Given the description of an element on the screen output the (x, y) to click on. 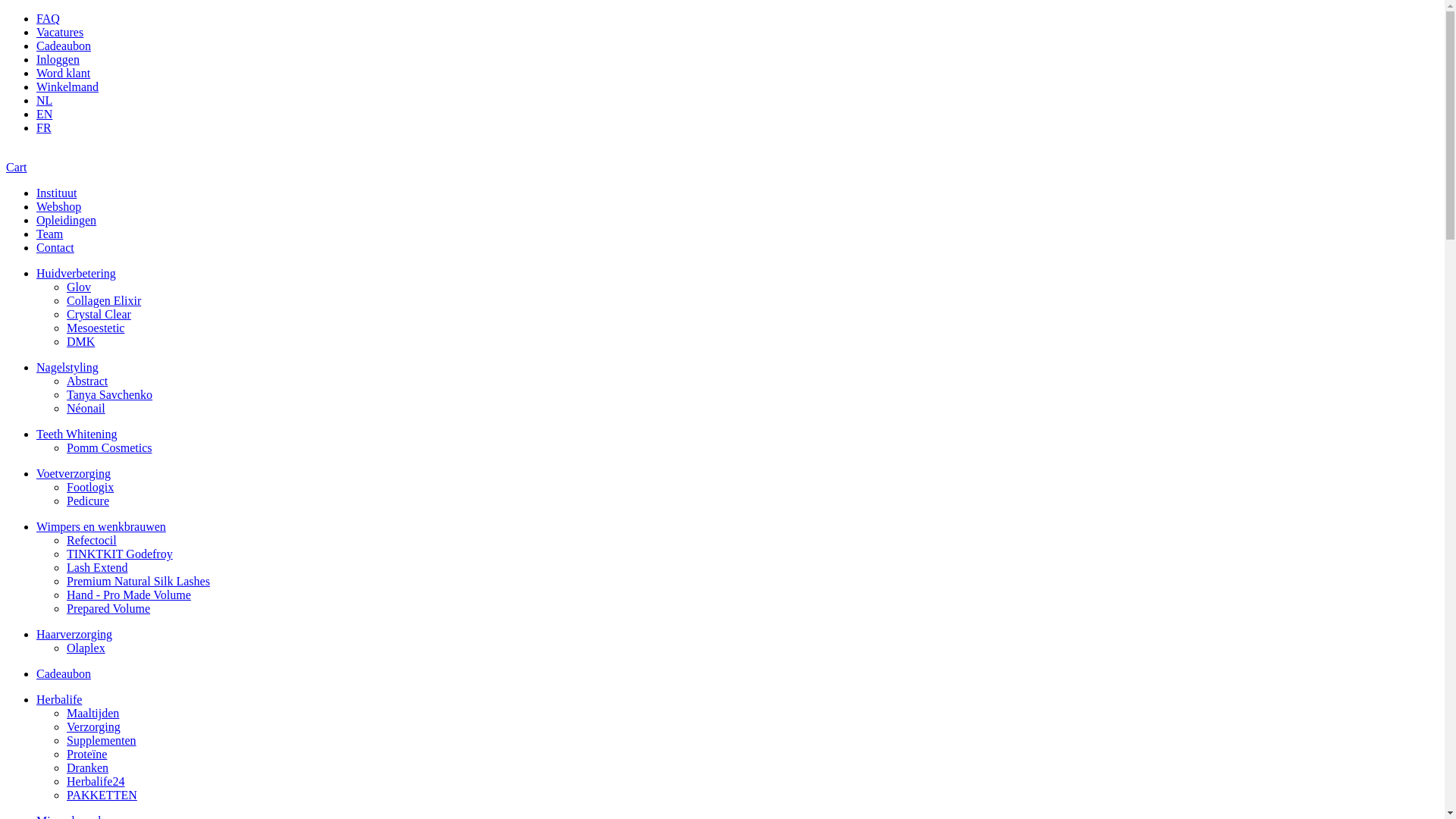
FR Element type: text (43, 127)
Contact Element type: text (55, 247)
Mesoestetic Element type: text (95, 327)
Refectocil Element type: text (91, 539)
Teeth Whitening Element type: text (76, 433)
Footlogix Element type: text (89, 486)
Premium Natural Silk Lashes Element type: text (138, 580)
Maaltijden Element type: text (92, 712)
Huidverbetering Element type: text (76, 272)
Tanya Savchenko Element type: text (109, 394)
Wimpers en wenkbrauwen Element type: text (101, 526)
Webshop Element type: text (58, 206)
Cadeaubon Element type: text (63, 673)
Glov Element type: text (78, 286)
Abstract Element type: text (86, 380)
Herbalife24 Element type: text (95, 781)
Dranken Element type: text (87, 767)
Supplementen Element type: text (101, 740)
Opleidingen Element type: text (66, 219)
Olaplex Element type: text (85, 647)
Team Element type: text (49, 233)
Crystal Clear Element type: text (98, 313)
FAQ Element type: text (47, 18)
Haarverzorging Element type: text (74, 633)
Herbalife Element type: text (58, 699)
Winkelmand Element type: text (67, 86)
NL Element type: text (44, 100)
Vacatures Element type: text (59, 31)
Lash Extend Element type: text (96, 567)
Word klant Element type: text (63, 72)
Pedicure Element type: text (87, 500)
Inloggen Element type: text (57, 59)
Pomm Cosmetics Element type: text (108, 447)
Cart Element type: text (16, 166)
DMK Element type: text (80, 341)
Verzorging Element type: text (93, 726)
Voetverzorging Element type: text (73, 473)
Hand - Pro Made Volume Element type: text (128, 594)
Collagen Elixir Element type: text (103, 300)
PAKKETTEN Element type: text (101, 794)
Cadeaubon Element type: text (63, 45)
Prepared Volume Element type: text (108, 608)
TINKTKIT Godefroy Element type: text (119, 553)
EN Element type: text (44, 113)
Nagelstyling Element type: text (67, 366)
Instituut Element type: text (56, 192)
